Given the description of an element on the screen output the (x, y) to click on. 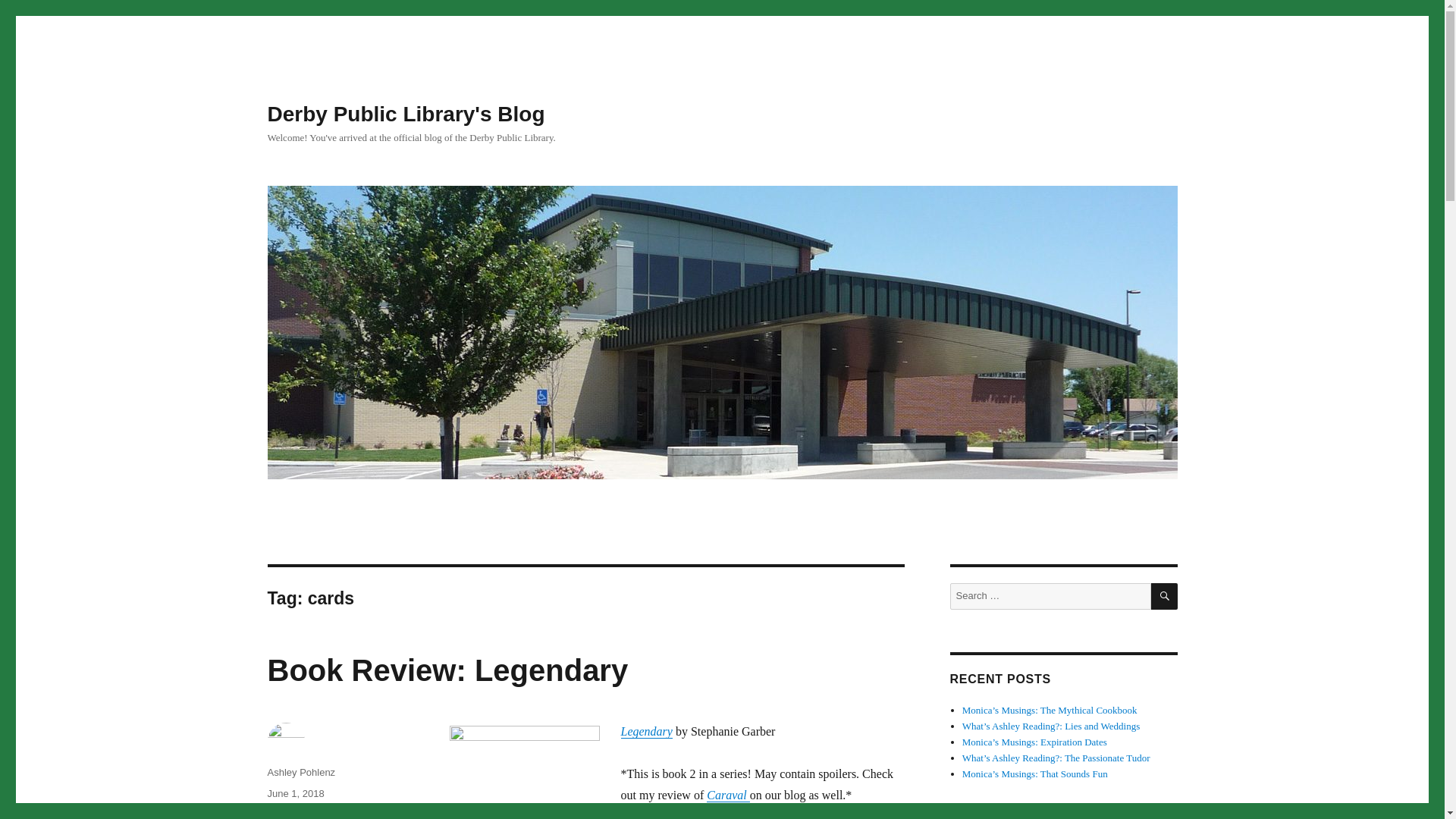
Caraval (727, 794)
Derby Public Library's Blog (405, 114)
Ashley Pohlenz (300, 772)
Legendary (645, 730)
June 1, 2018 (294, 793)
Book Review: Legendary (446, 670)
New books (350, 814)
SEARCH (1164, 596)
Book review (293, 814)
